Given the description of an element on the screen output the (x, y) to click on. 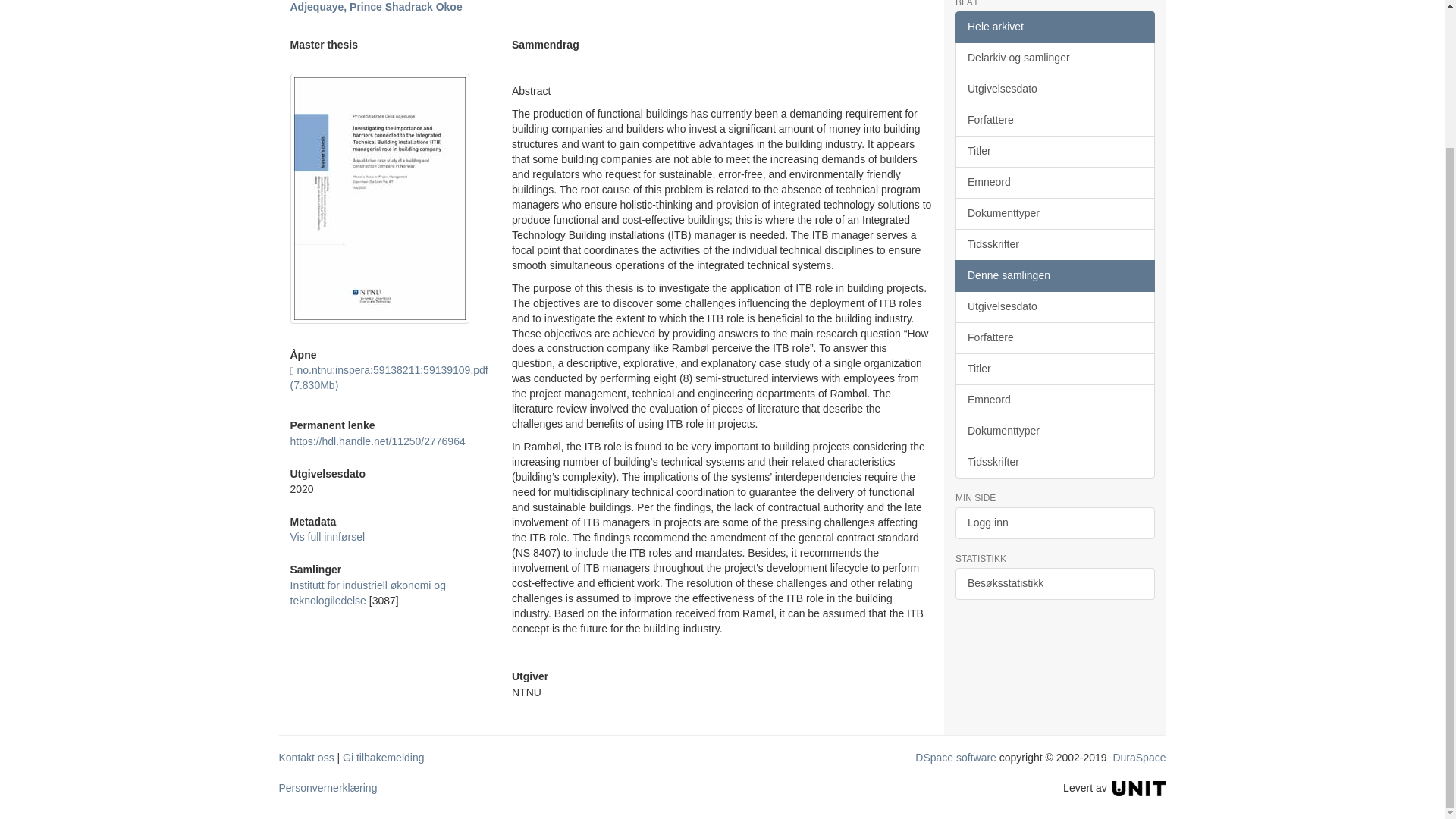
Unit (1139, 787)
Adjequaye, Prince Shadrack Okoe (375, 6)
Forfattere (1054, 120)
Delarkiv og samlinger (1054, 58)
Hele arkivet (1054, 27)
Dokumenttyper (1054, 214)
Tidsskrifter (1054, 245)
Utgivelsesdato (1054, 89)
Emneord (1054, 183)
Titler (1054, 151)
